Given the description of an element on the screen output the (x, y) to click on. 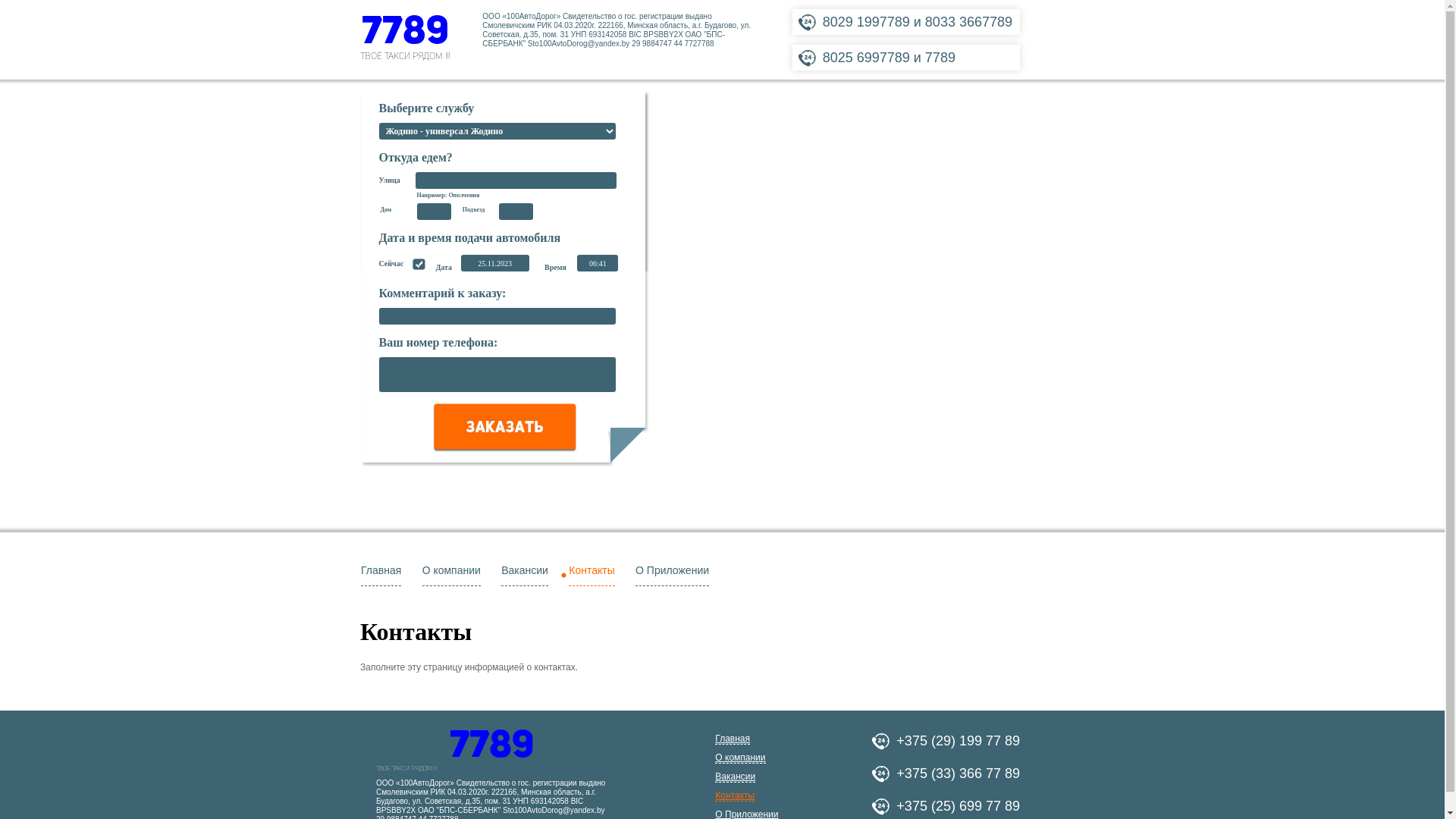
7789 Element type: text (491, 746)
7789 Element type: text (404, 32)
